Given the description of an element on the screen output the (x, y) to click on. 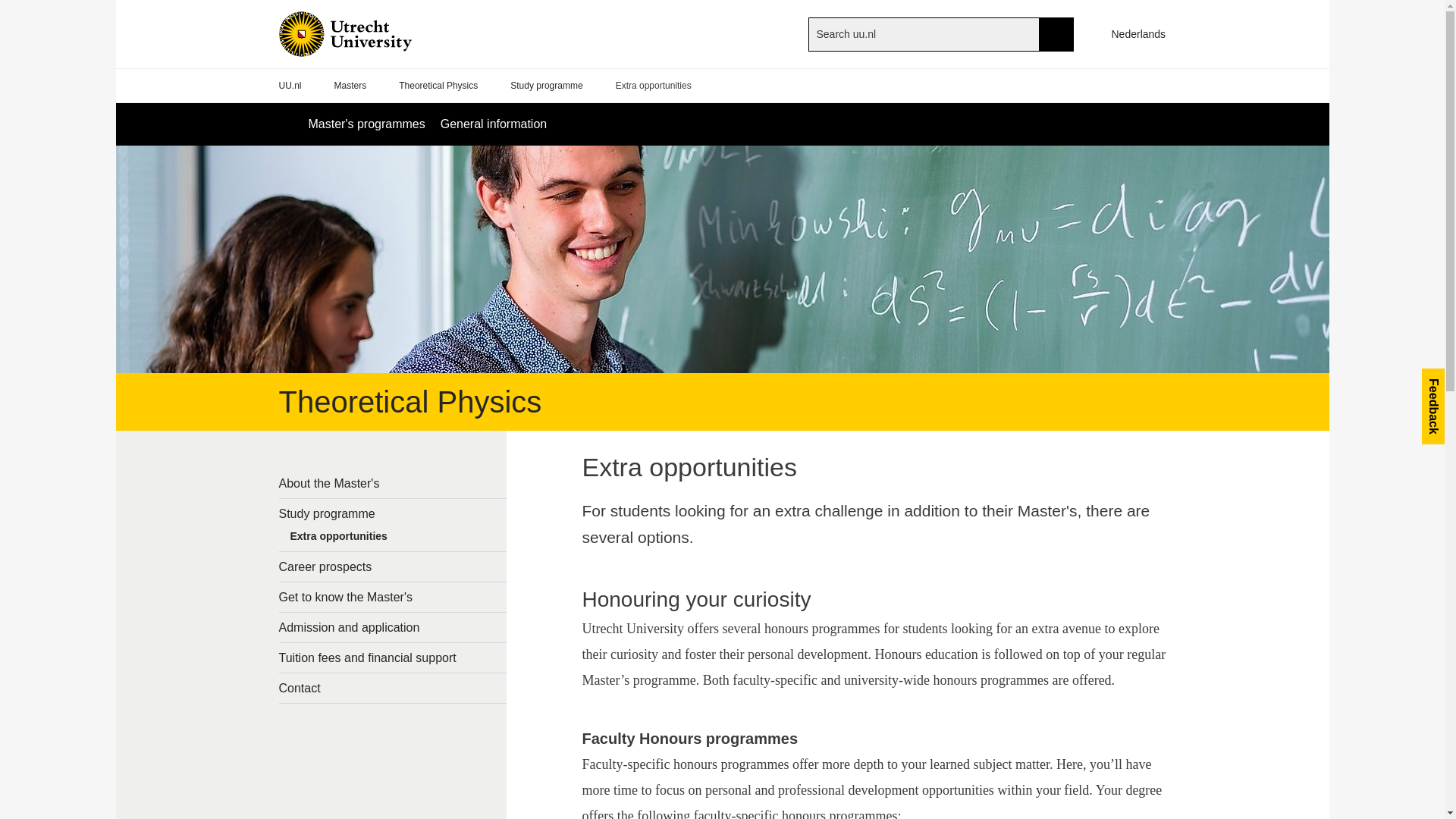
Nederlands (1131, 33)
Home (370, 33)
About the Master's (392, 482)
Study programme (392, 513)
Master's programmes (365, 124)
Get to know the Master's (392, 596)
Extra opportunities (392, 539)
Career prospects (392, 566)
Theoretical Physics (437, 85)
Masters (350, 85)
